Given the description of an element on the screen output the (x, y) to click on. 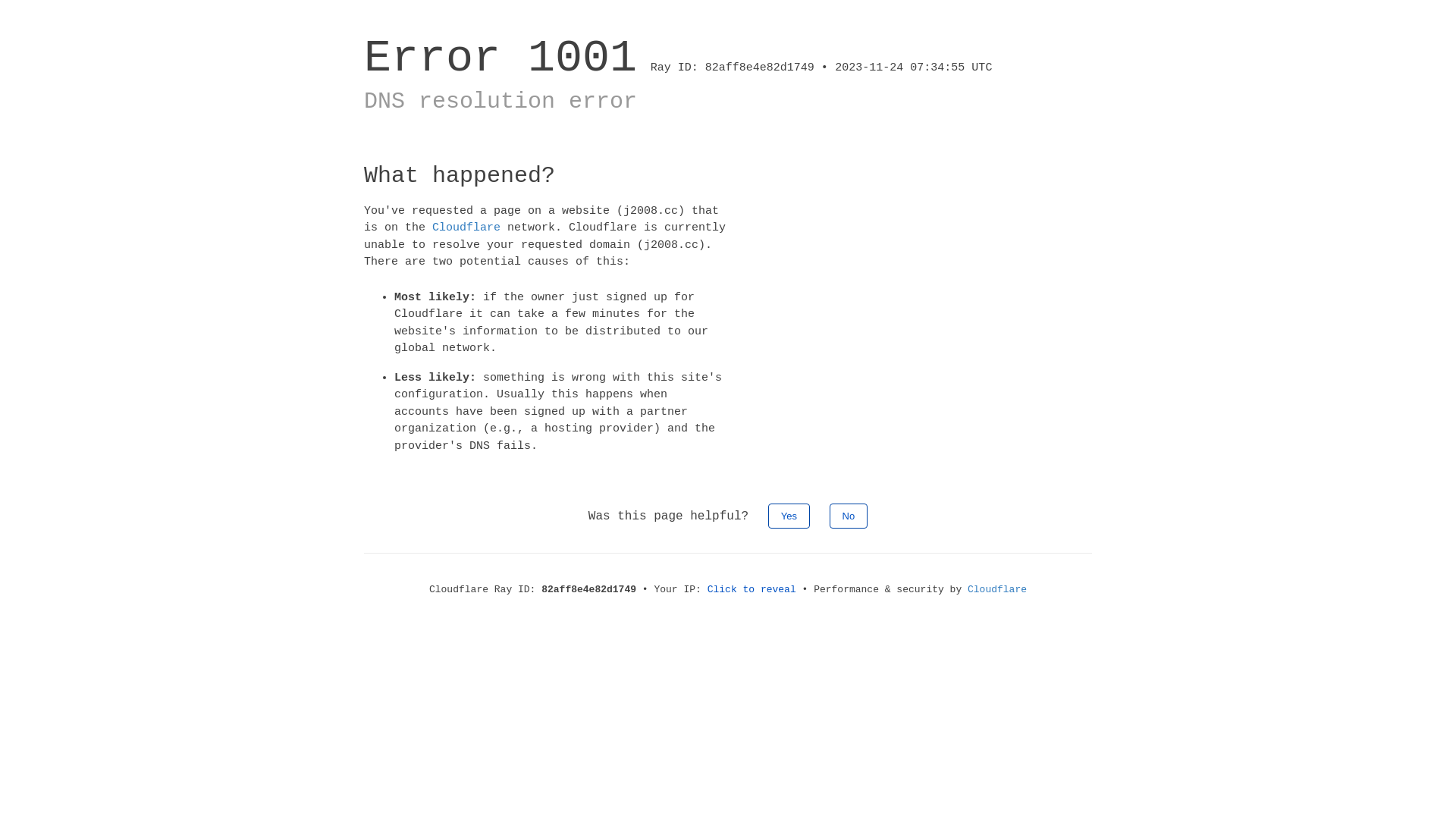
No Element type: text (848, 515)
Cloudflare Element type: text (466, 227)
Click to reveal Element type: text (751, 589)
Yes Element type: text (788, 515)
Cloudflare Element type: text (996, 589)
